Given the description of an element on the screen output the (x, y) to click on. 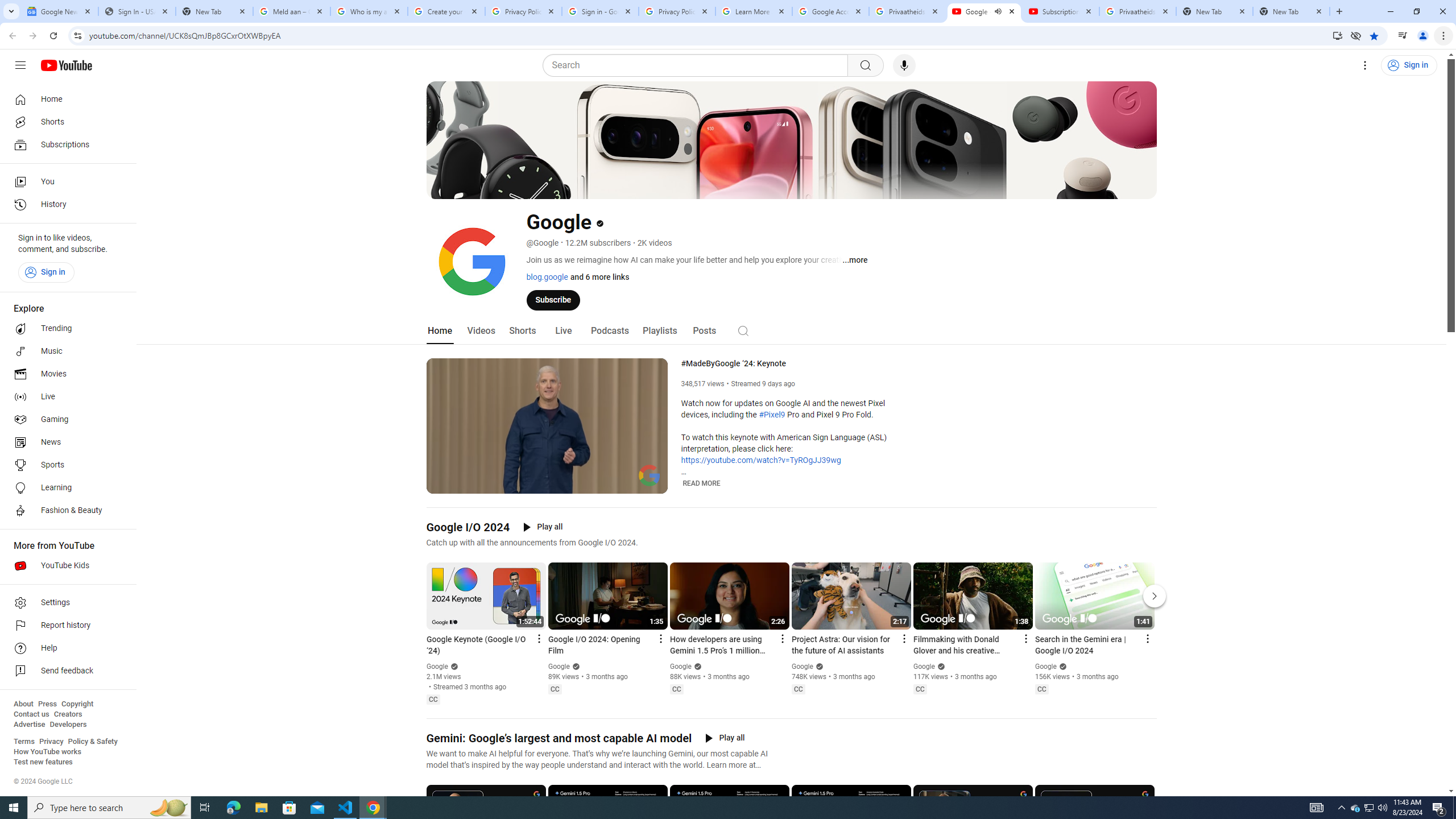
News (64, 441)
Install YouTube (1336, 35)
Mute (m) (463, 483)
Subscriptions (64, 144)
Press (46, 703)
Channel watermark (649, 475)
Trending (64, 328)
Gaming (64, 419)
Channel watermark (649, 475)
